Given the description of an element on the screen output the (x, y) to click on. 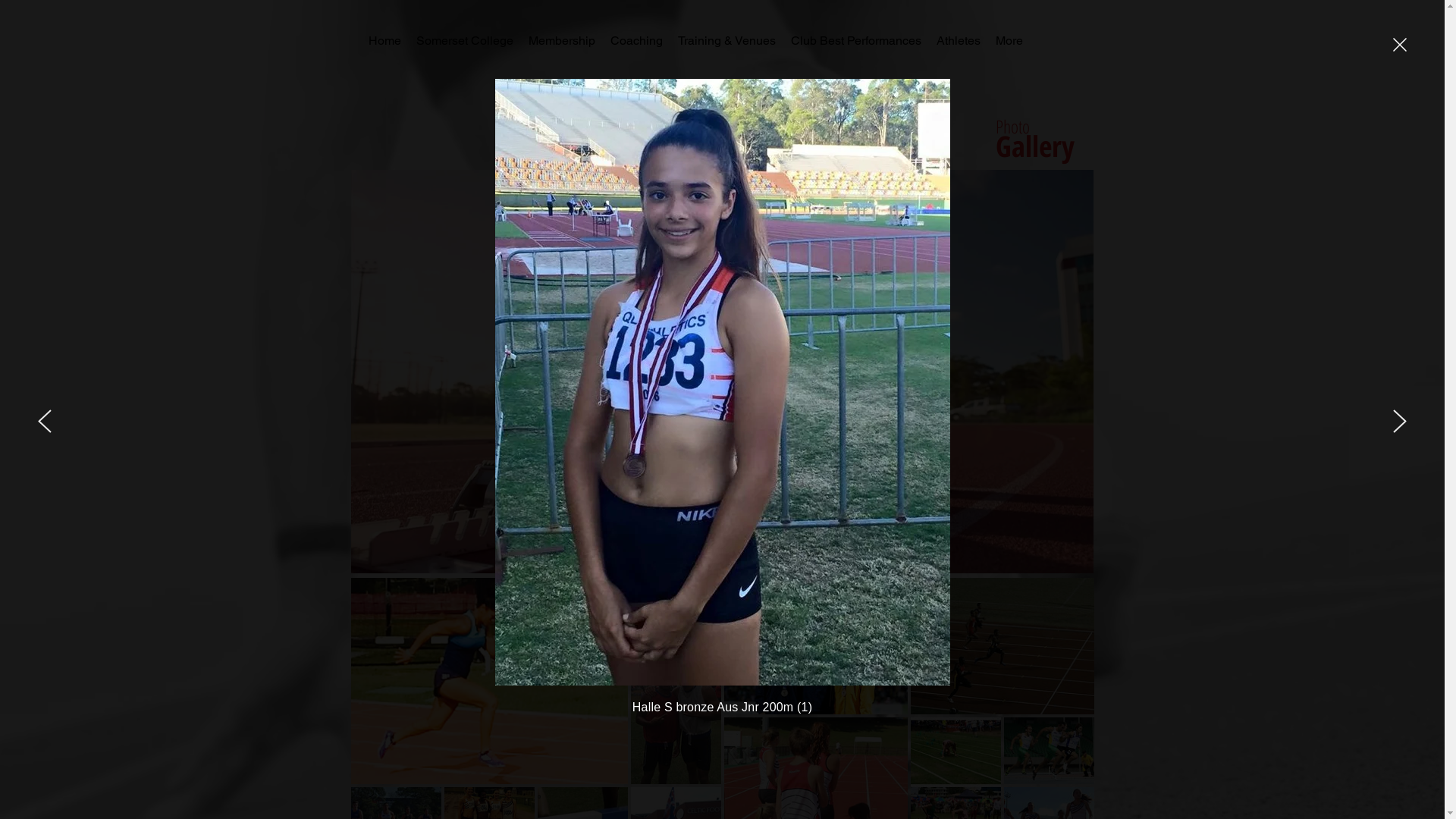
Log In Element type: text (1074, 40)
Training & Venues Element type: text (726, 39)
Coaching Element type: text (635, 39)
Athletes Element type: text (957, 39)
Somerset College Element type: text (463, 39)
Membership Element type: text (561, 39)
Home Element type: text (384, 39)
Club Best Performances Element type: text (855, 39)
